Given the description of an element on the screen output the (x, y) to click on. 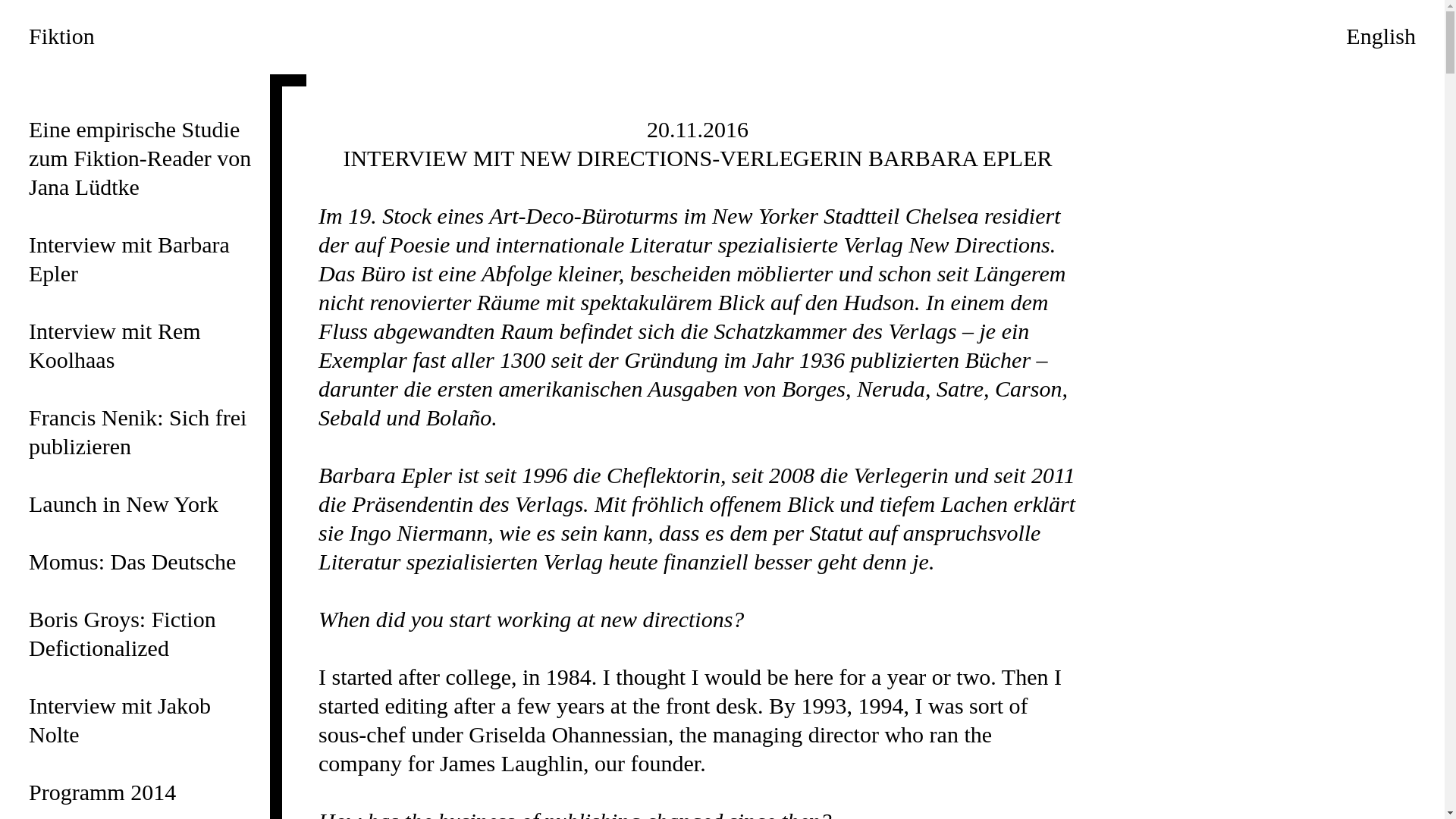
Momus: Das Deutsche Element type: text (131, 561)
Launch in New York Element type: text (123, 503)
Interview mit Jakob Nolte Element type: text (119, 719)
Francis Nenik: Sich frei publizieren Element type: text (137, 431)
Boris Groys: Fiction Defictionalized Element type: text (122, 633)
Fiktion Element type: text (61, 35)
English Element type: text (1380, 35)
Interview mit Rem Koolhaas Element type: text (114, 345)
INTERVIEW MIT NEW DIRECTIONS-VERLEGERIN BARBARA EPLER Element type: text (696, 157)
Interview mit Barbara Epler Element type: text (128, 258)
Programm 2014 Element type: text (101, 791)
